Given the description of an element on the screen output the (x, y) to click on. 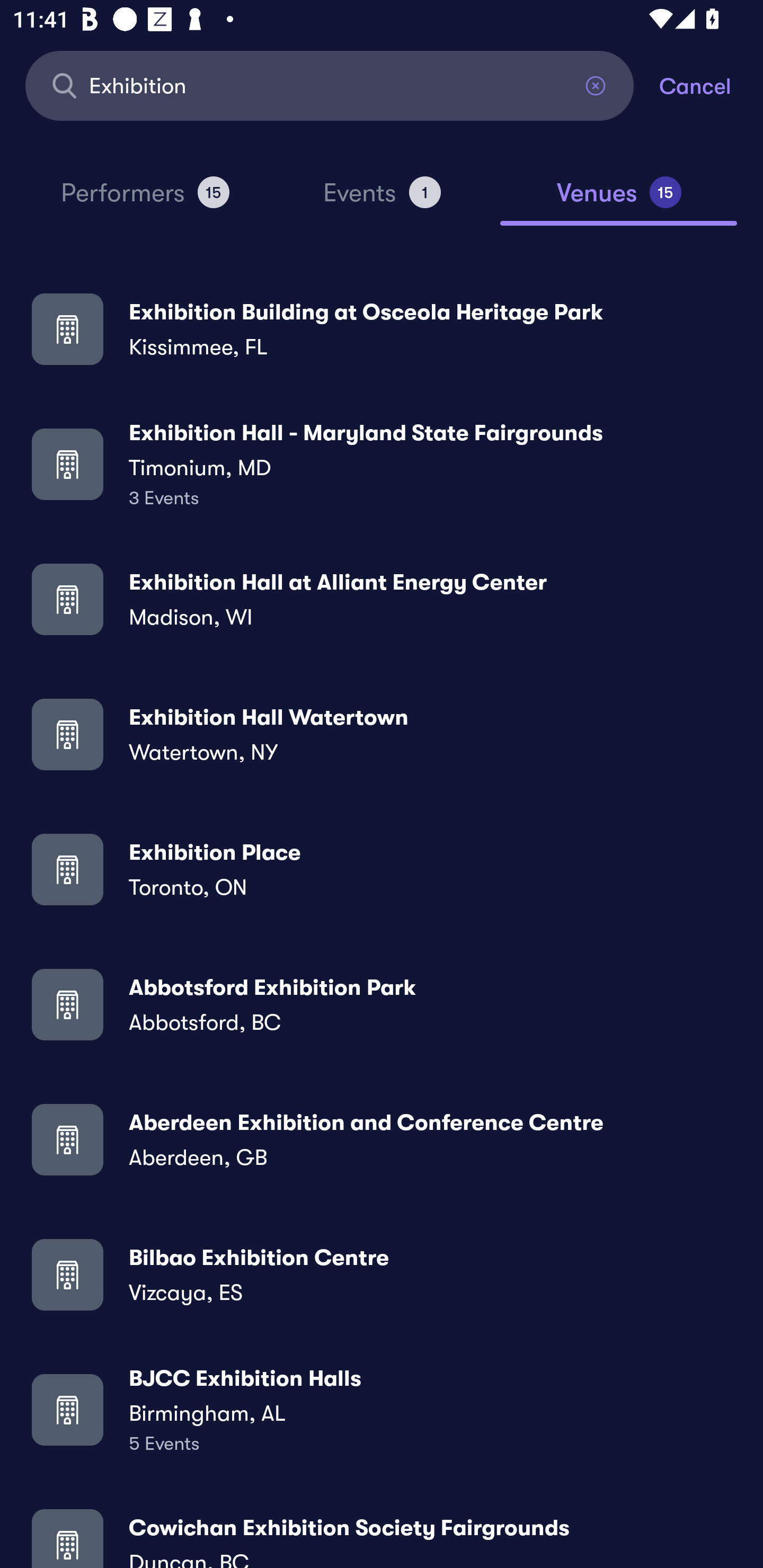
Exhibition Find (329, 85)
Exhibition Find (329, 85)
Cancel (711, 85)
Performers 15 (144, 200)
Events 1 (381, 200)
Venues 15 (618, 200)
Exhibition Hall Watertown Watertown, NY (381, 734)
Exhibition Place Toronto, ON (381, 869)
Abbotsford Exhibition Park Abbotsford, BC (381, 1004)
Bilbao Exhibition Centre Vizcaya, ES (381, 1273)
BJCC Exhibition Halls Birmingham, AL 5 Events (381, 1409)
Cowichan Exhibition Society Fairgrounds Duncan, BC (381, 1532)
